Given the description of an element on the screen output the (x, y) to click on. 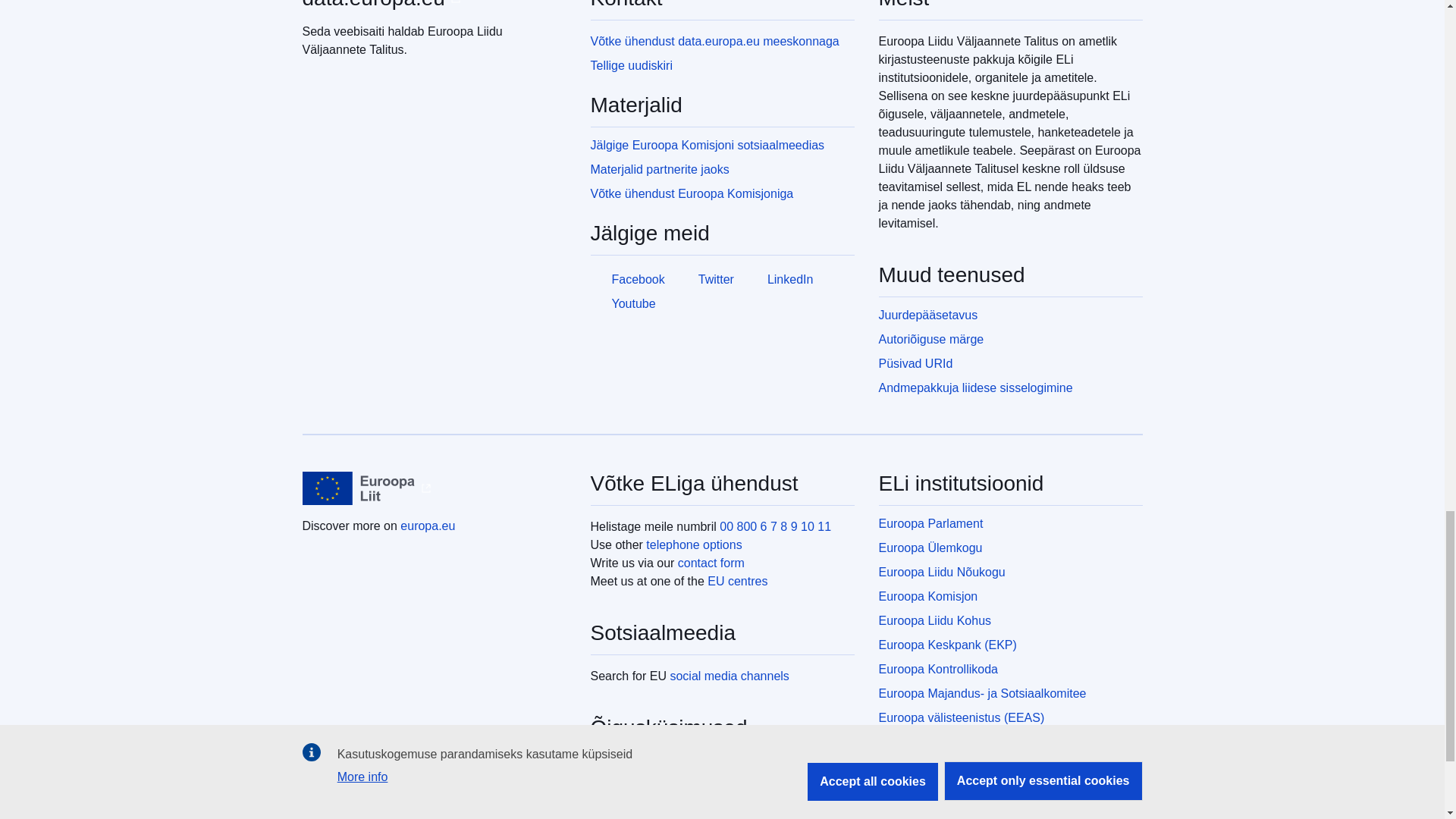
European Union (357, 488)
